Given the description of an element on the screen output the (x, y) to click on. 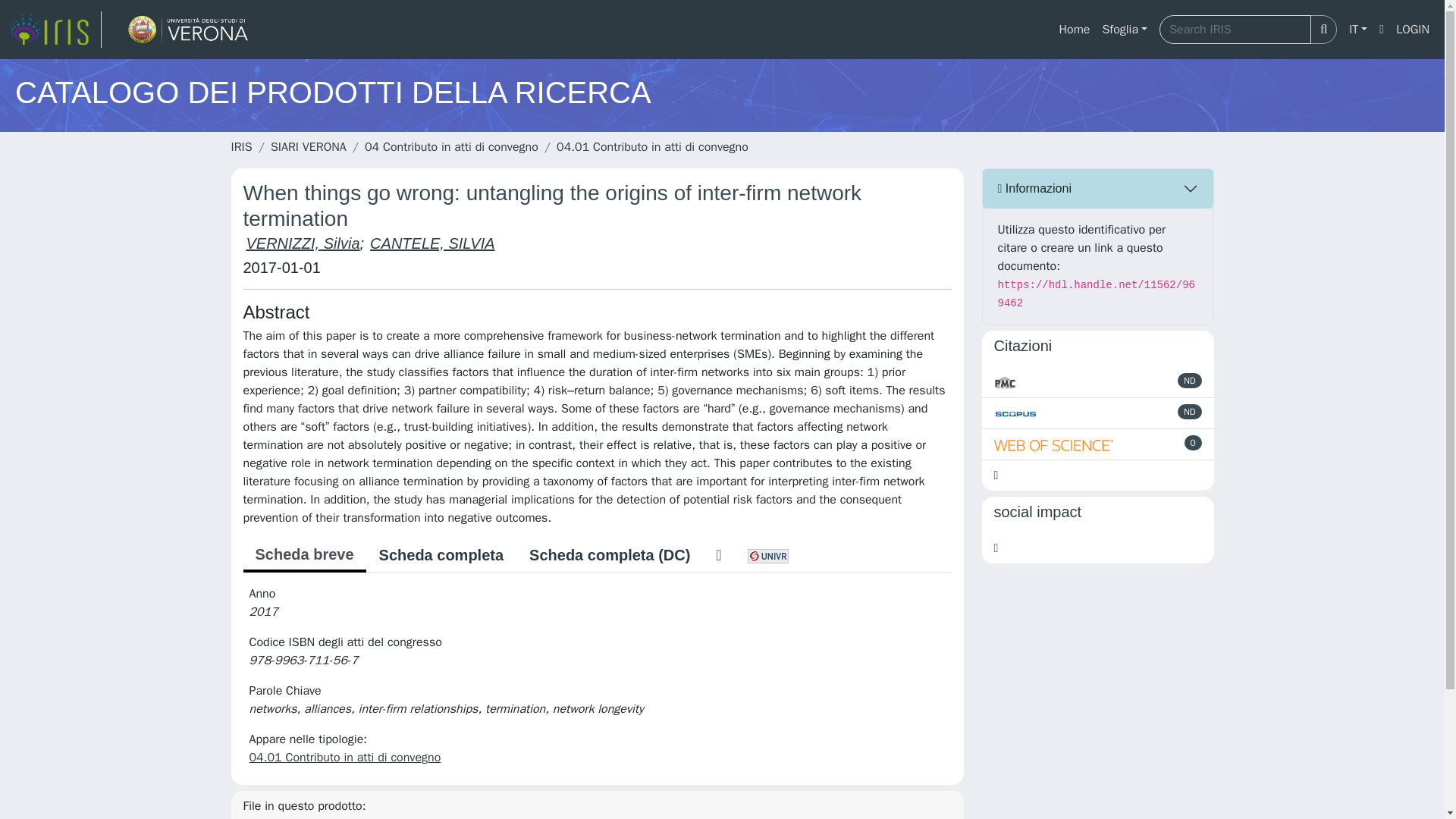
Home (1074, 29)
CANTELE, SILVIA (432, 243)
IT (1357, 29)
VERNIZZI, Silvia (302, 243)
04.01 Contributo in atti di convegno (652, 146)
04.01 Contributo in atti di convegno (344, 757)
Scheda completa (441, 554)
LOGIN (1412, 29)
04 Contributo in atti di convegno (451, 146)
IRIS (240, 146)
SIARI VERONA (308, 146)
aggiornato in data 22-07-2024 18:40 (1193, 442)
 Informazioni (1097, 188)
Aiuto (1381, 29)
Sfoglia (1124, 29)
